Given the description of an element on the screen output the (x, y) to click on. 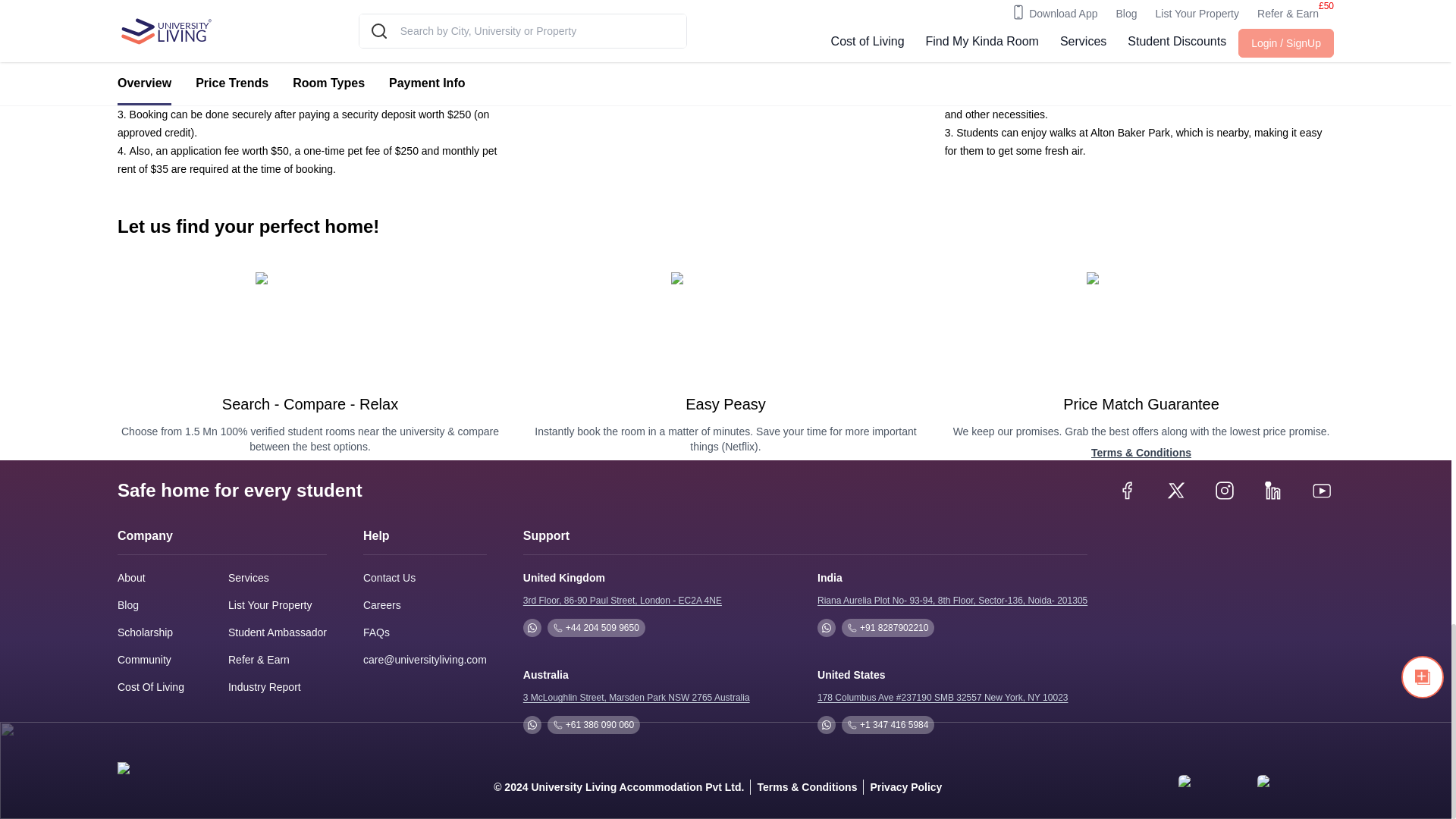
Student Ambassador (277, 631)
Community (144, 659)
Scholarship (145, 631)
Blog (127, 604)
Contact Us (388, 577)
About (131, 577)
FAQs (376, 632)
Industry Report (264, 686)
Cost Of Living (150, 686)
Careers (381, 604)
List Your Property (270, 604)
Services (248, 577)
